Given the description of an element on the screen output the (x, y) to click on. 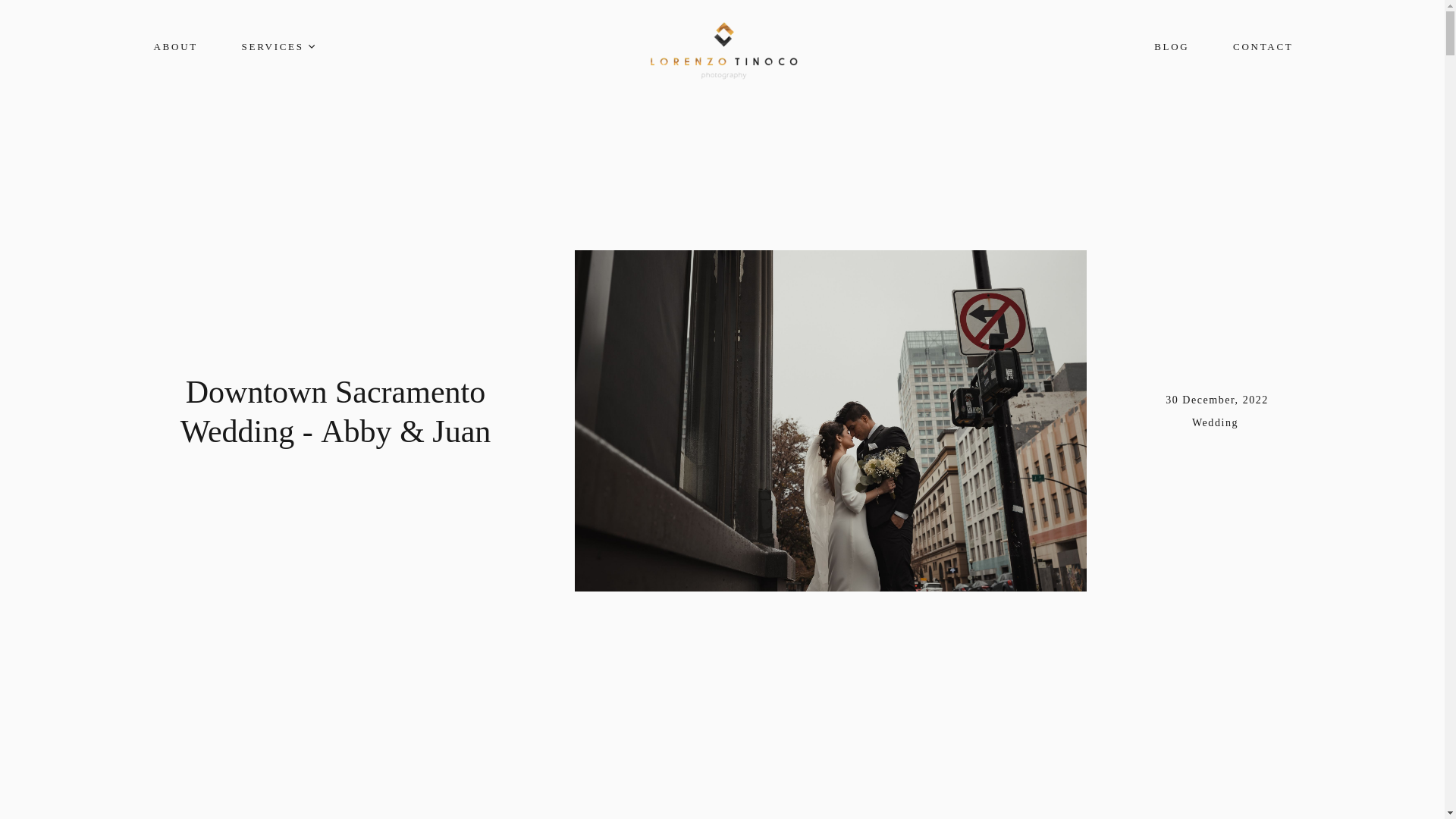
Wedding  (1216, 422)
CONTACT (1262, 46)
ABOUT (175, 46)
BLOG (1171, 46)
SERVICES (278, 46)
